Given the description of an element on the screen output the (x, y) to click on. 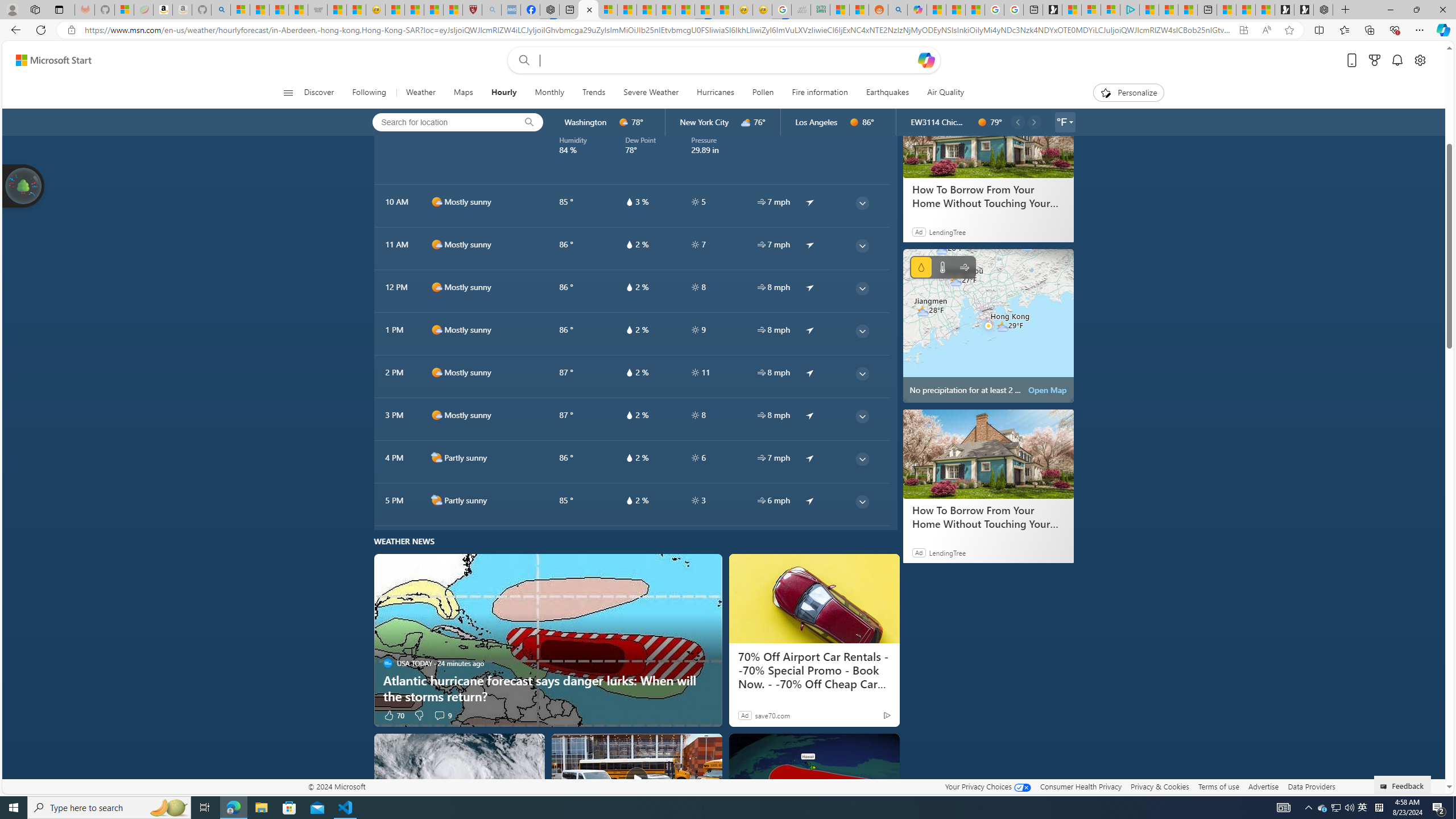
common/thinArrow (861, 501)
70 Like (393, 714)
Severe Weather (650, 92)
save70.com (772, 714)
